Given the description of an element on the screen output the (x, y) to click on. 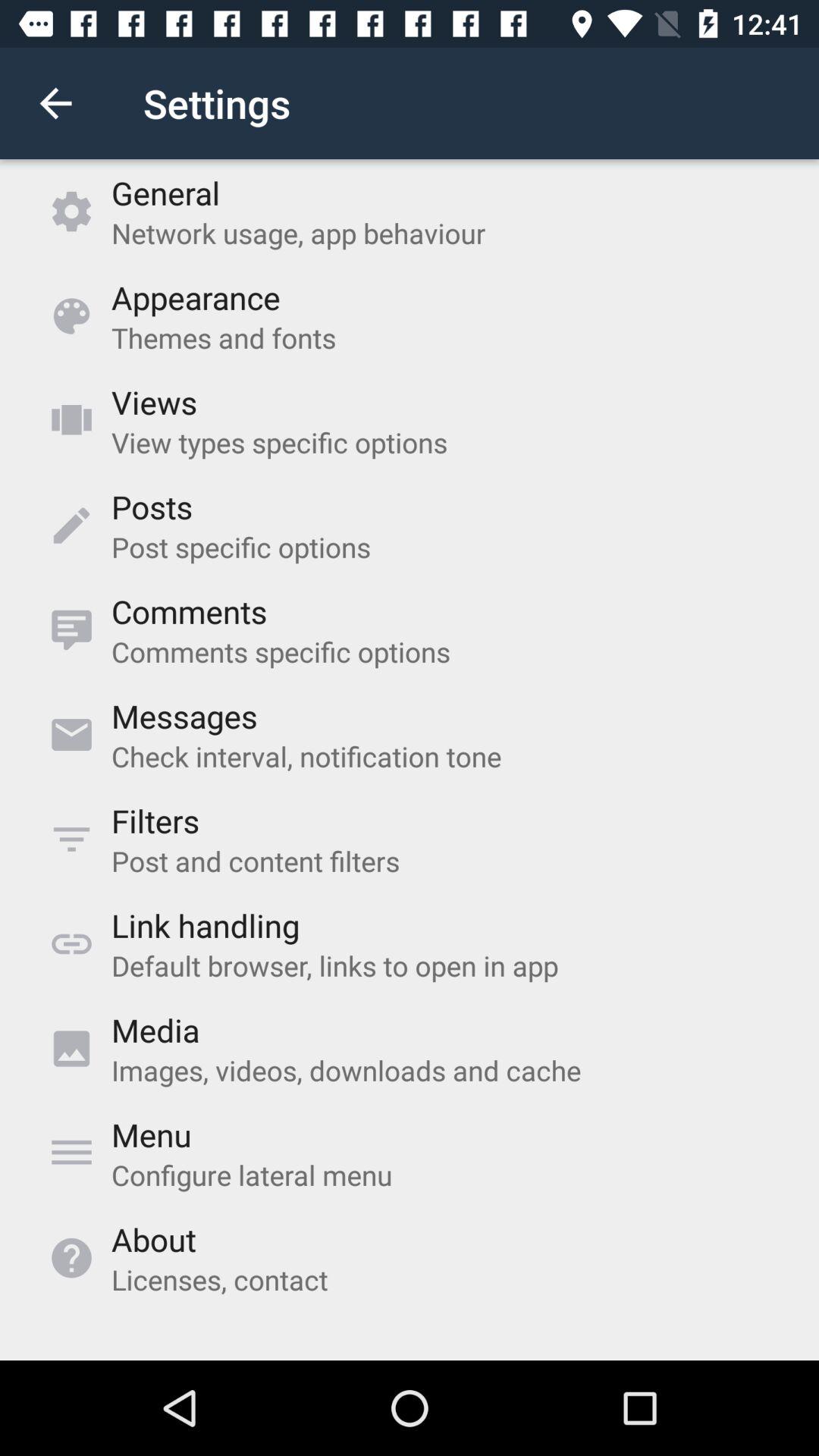
open item to the left of general (55, 103)
